Given the description of an element on the screen output the (x, y) to click on. 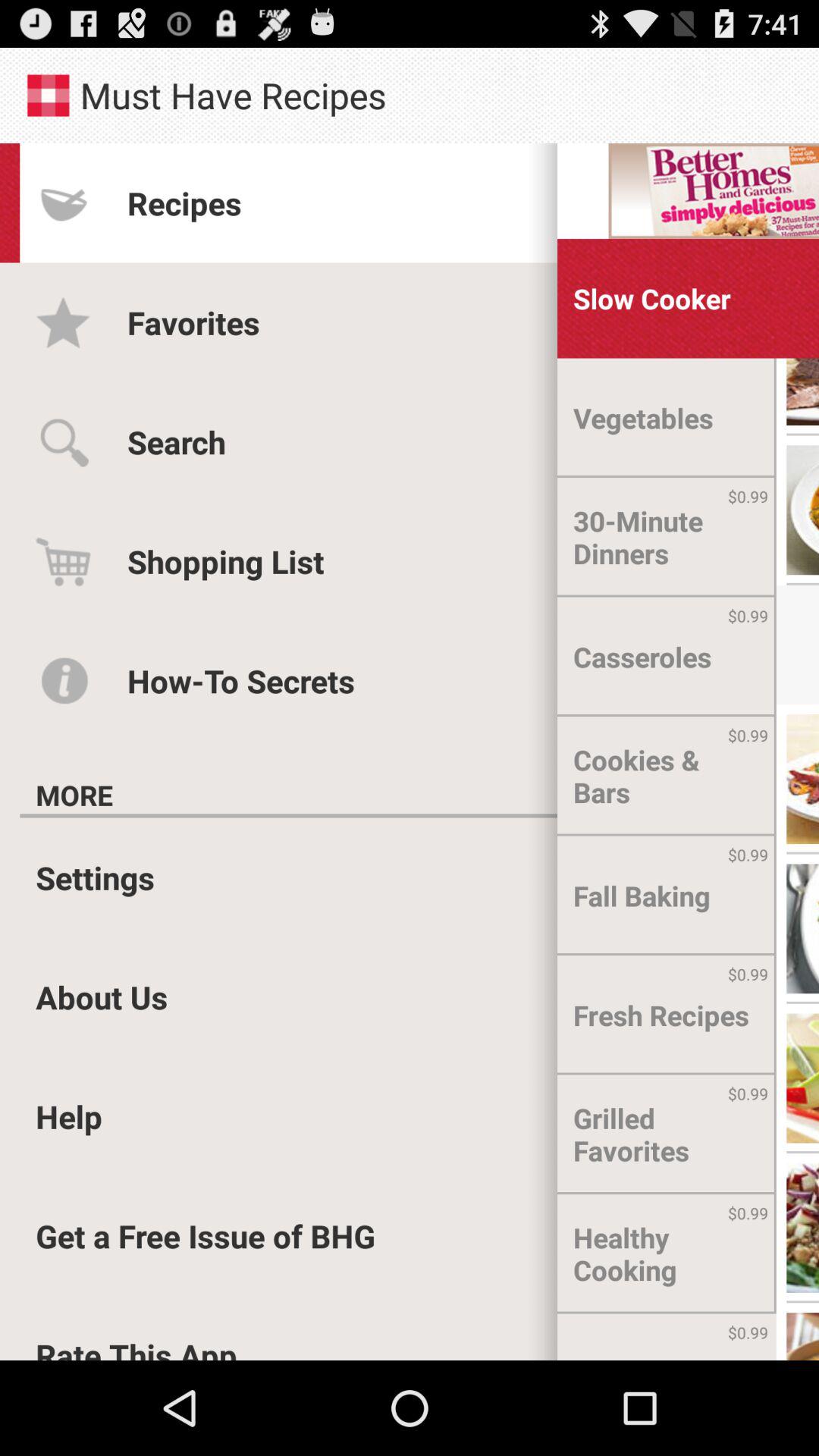
select the grilled favorites icon (666, 1134)
